Given the description of an element on the screen output the (x, y) to click on. 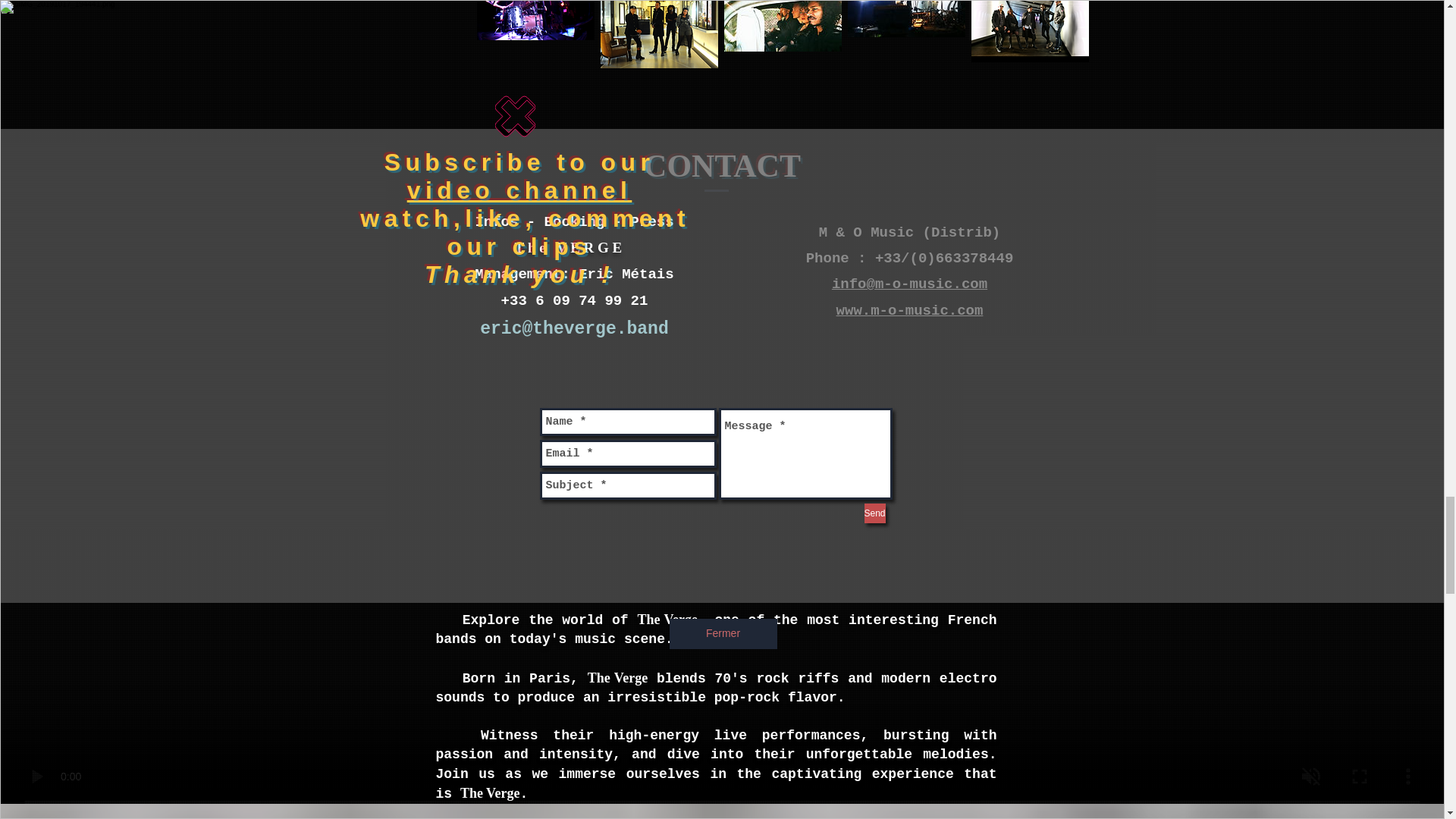
www.m-o-music.com (909, 310)
Send (874, 513)
